Given the description of an element on the screen output the (x, y) to click on. 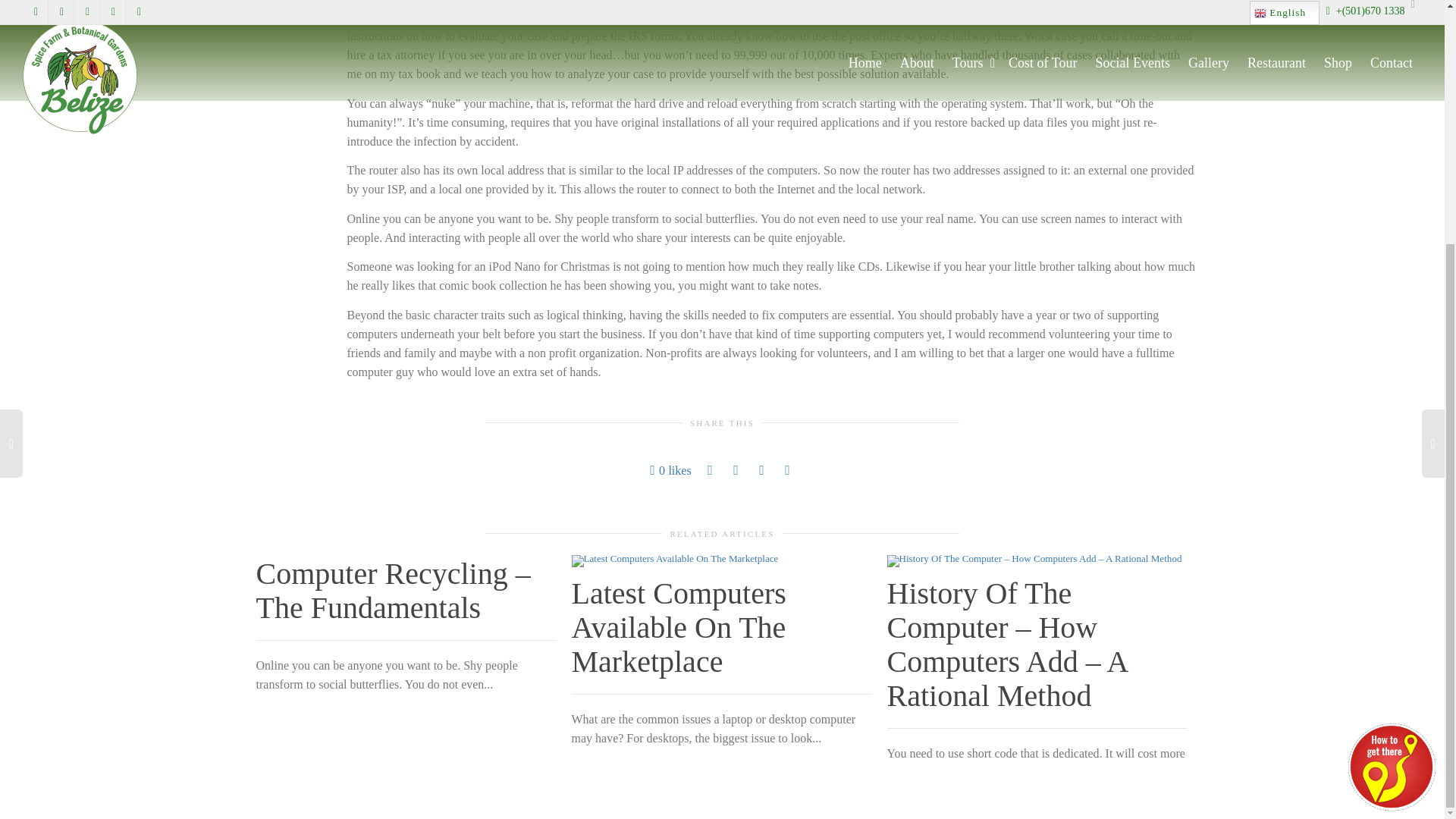
0 likes (669, 470)
